Given the description of an element on the screen output the (x, y) to click on. 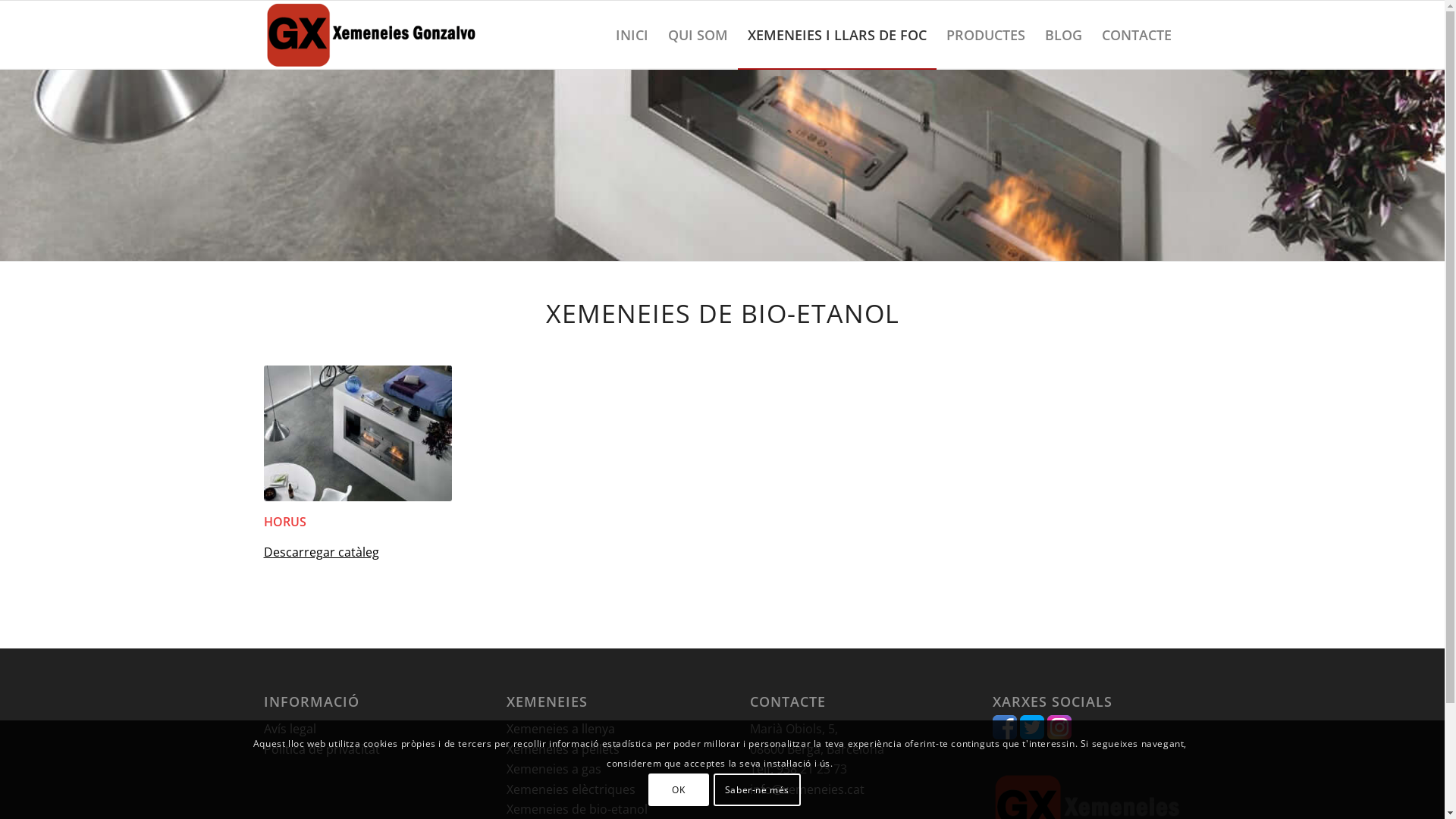
header-xemeneies-bio-etanol Element type: hover (722, 164)
facebook Element type: hover (1004, 734)
BLOG Element type: text (1062, 34)
instagram Element type: hover (1059, 734)
QUI SOM Element type: text (697, 34)
Xemeneies de bio-etanol Element type: text (576, 808)
INICI Element type: text (631, 34)
Xemeneies a llenya Element type: text (560, 728)
info@xemeneies.cat Element type: text (806, 789)
Catalogo_bioetanol_2014_HORUS Element type: hover (357, 433)
Xemeneies a pellets Element type: text (562, 748)
CONTACTE Element type: text (1136, 34)
Xemeneies a gas Element type: text (553, 768)
twitter Element type: hover (1031, 734)
XEMENEIES I LLARS DE FOC Element type: text (836, 34)
PRODUCTES Element type: text (984, 34)
OK Element type: text (678, 789)
